Given the description of an element on the screen output the (x, y) to click on. 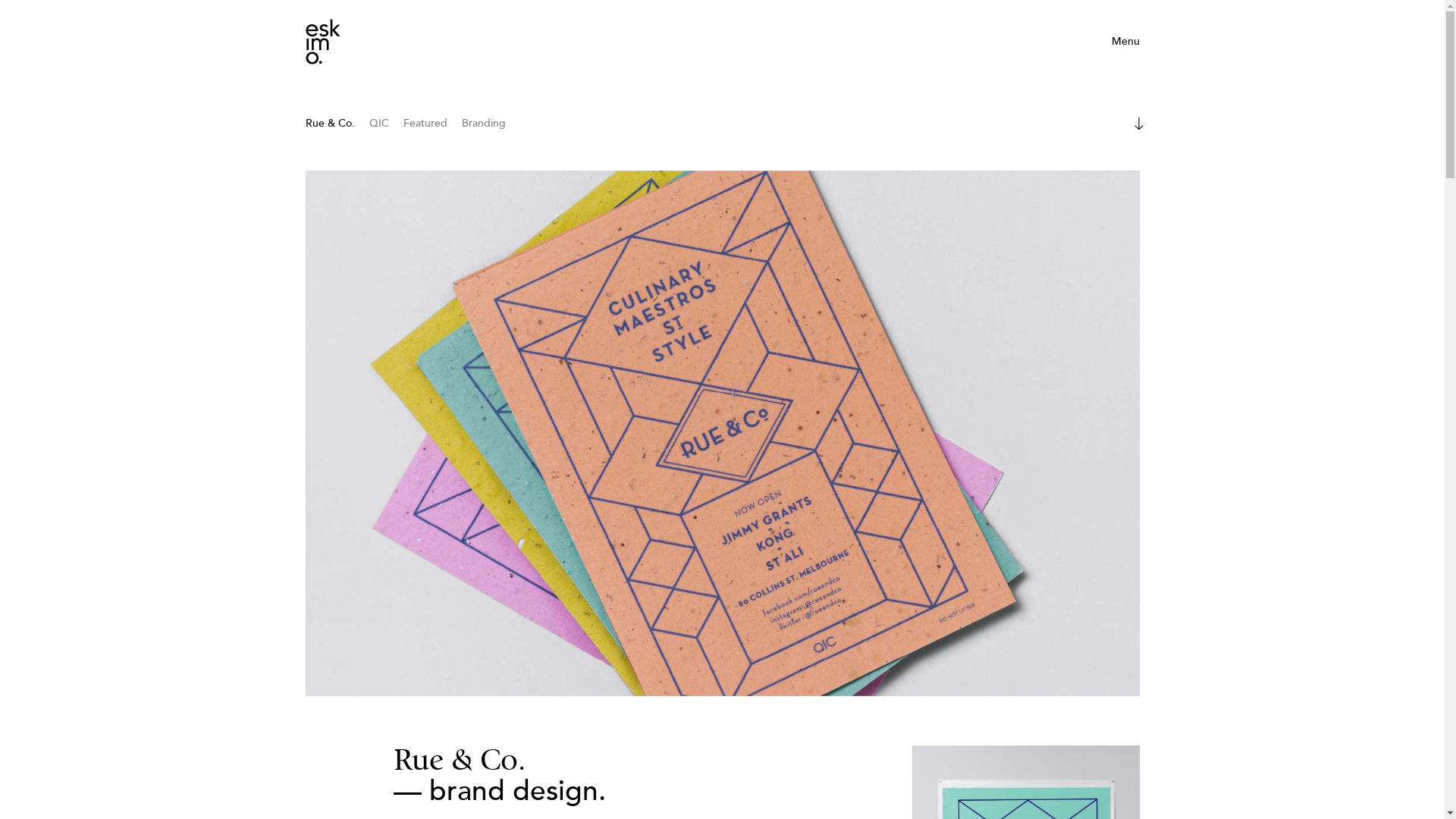
Menu Element type: text (1125, 36)
hello@eskimodesign.com.au Element type: text (675, 670)
Featured Element type: text (425, 124)
Instagram Element type: text (935, 670)
Twitter Element type: text (928, 704)
Branding Element type: text (483, 124)
QIC Element type: text (378, 124)
Facebook Element type: text (934, 687)
